Given the description of an element on the screen output the (x, y) to click on. 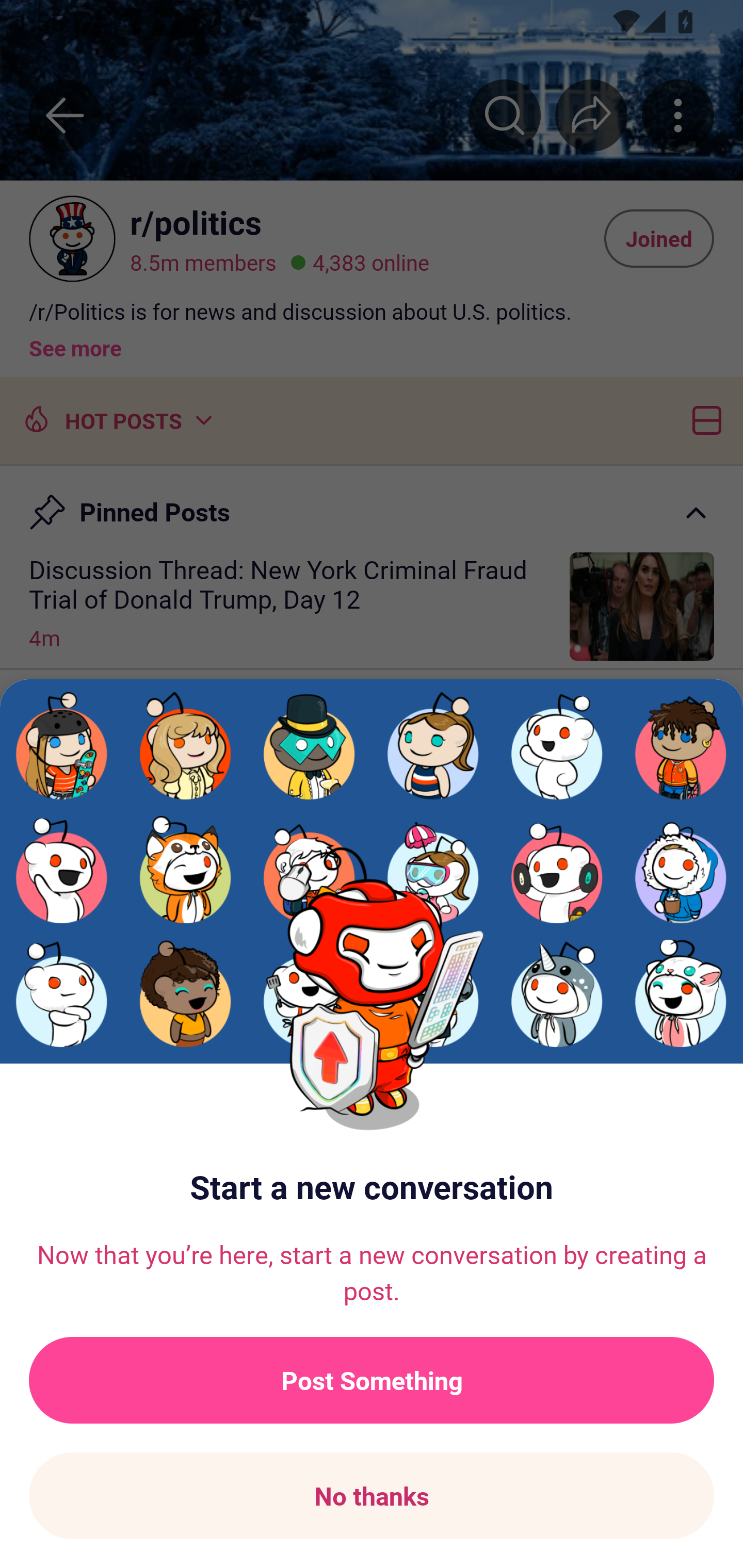
Post Something (371, 1380)
No thanks (371, 1495)
